Given the description of an element on the screen output the (x, y) to click on. 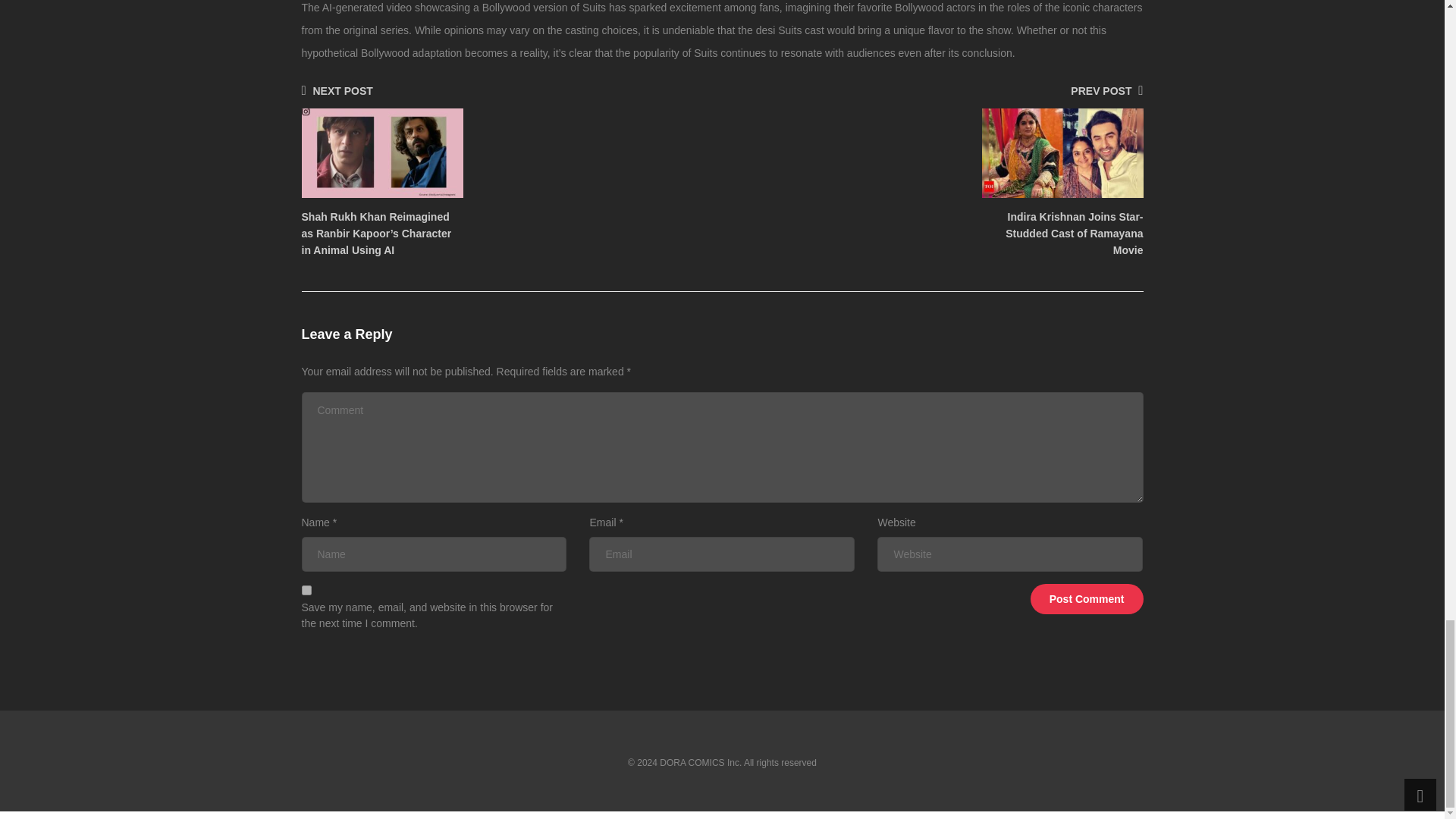
Post Comment (1086, 598)
Post Comment (1086, 598)
yes (306, 590)
Indira Krishnan Joins Star-Studded Cast of Ramayana Movie (1074, 233)
PREV POST (1106, 90)
NEXT POST (336, 90)
